Given the description of an element on the screen output the (x, y) to click on. 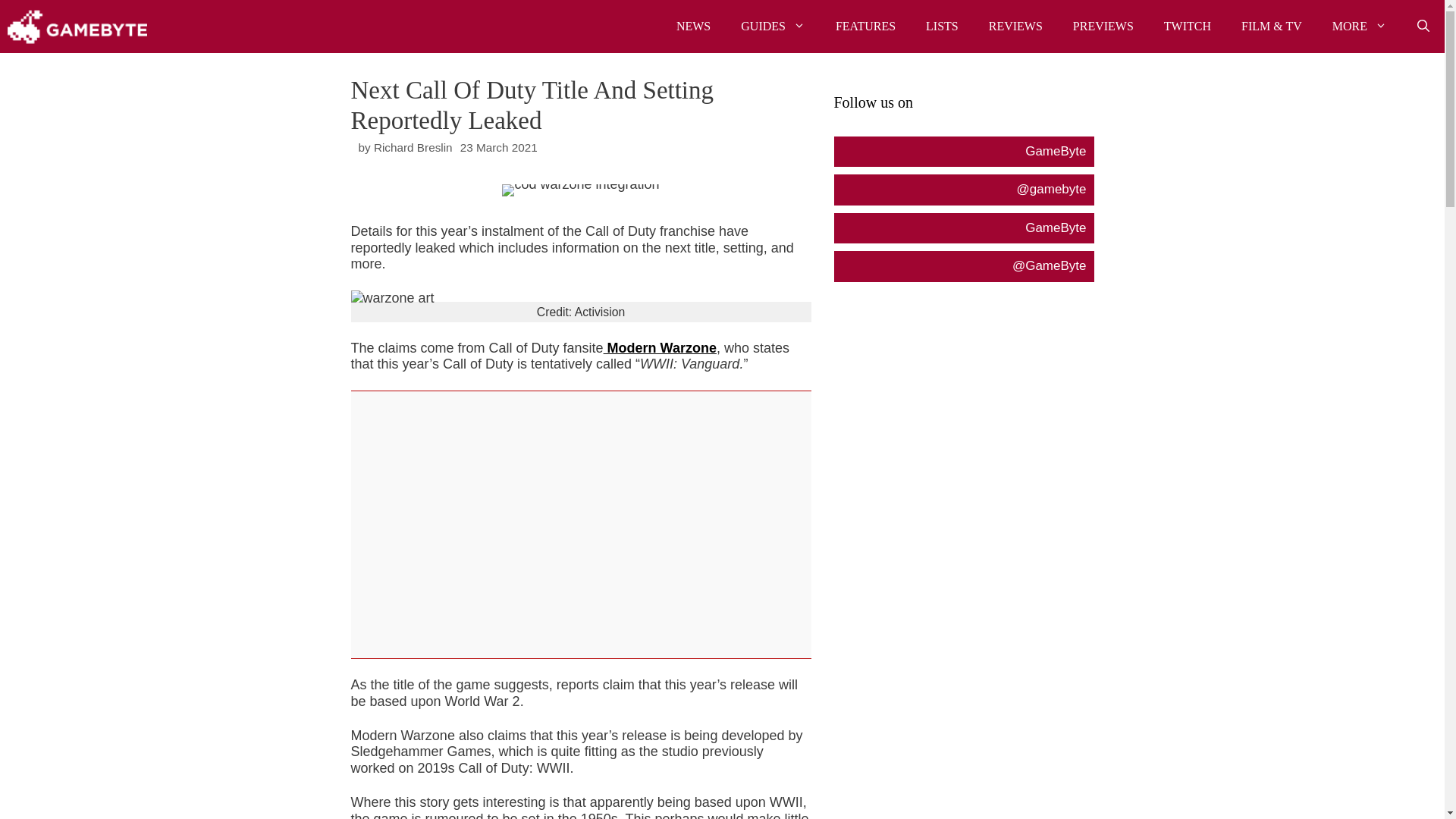
Gamebyte Instagram (963, 189)
Gamebyte Twitter (963, 265)
Gamebyte Youtube (963, 227)
NEWS (693, 26)
GUIDES (773, 26)
GameByte (77, 26)
View all posts by Richard Breslin (413, 146)
Gamebyte Facebook (963, 151)
